Given the description of an element on the screen output the (x, y) to click on. 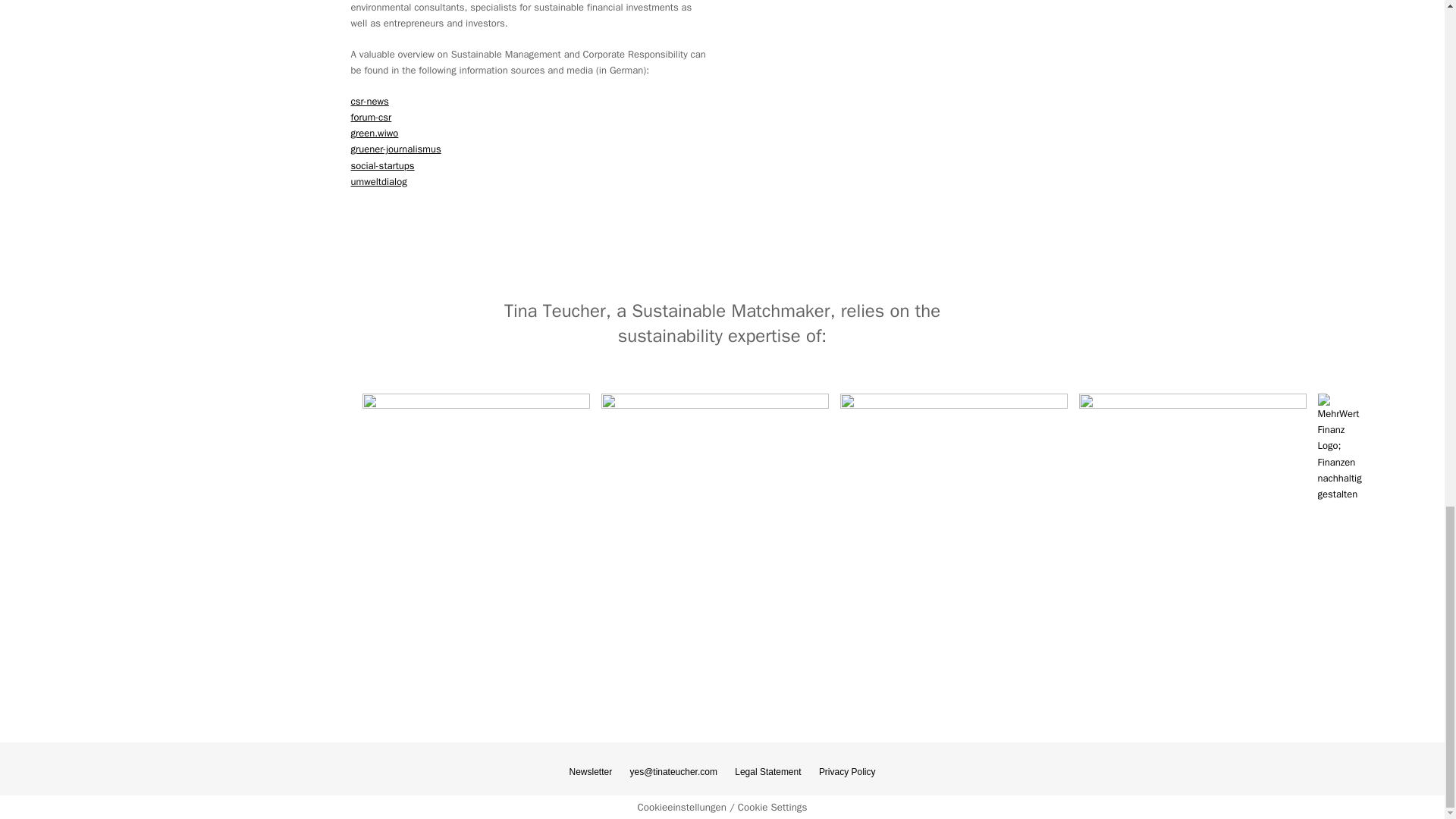
forum-csr (370, 116)
Legal Statement (767, 771)
social-startups (381, 164)
gruener-journalismus (395, 148)
Privacy Policy (847, 771)
green.wiwo (373, 132)
Newsletter (590, 771)
Consulting-Orientation-Tina-Teucher (913, 111)
csr-news (369, 101)
umweltdialog (378, 181)
